Given the description of an element on the screen output the (x, y) to click on. 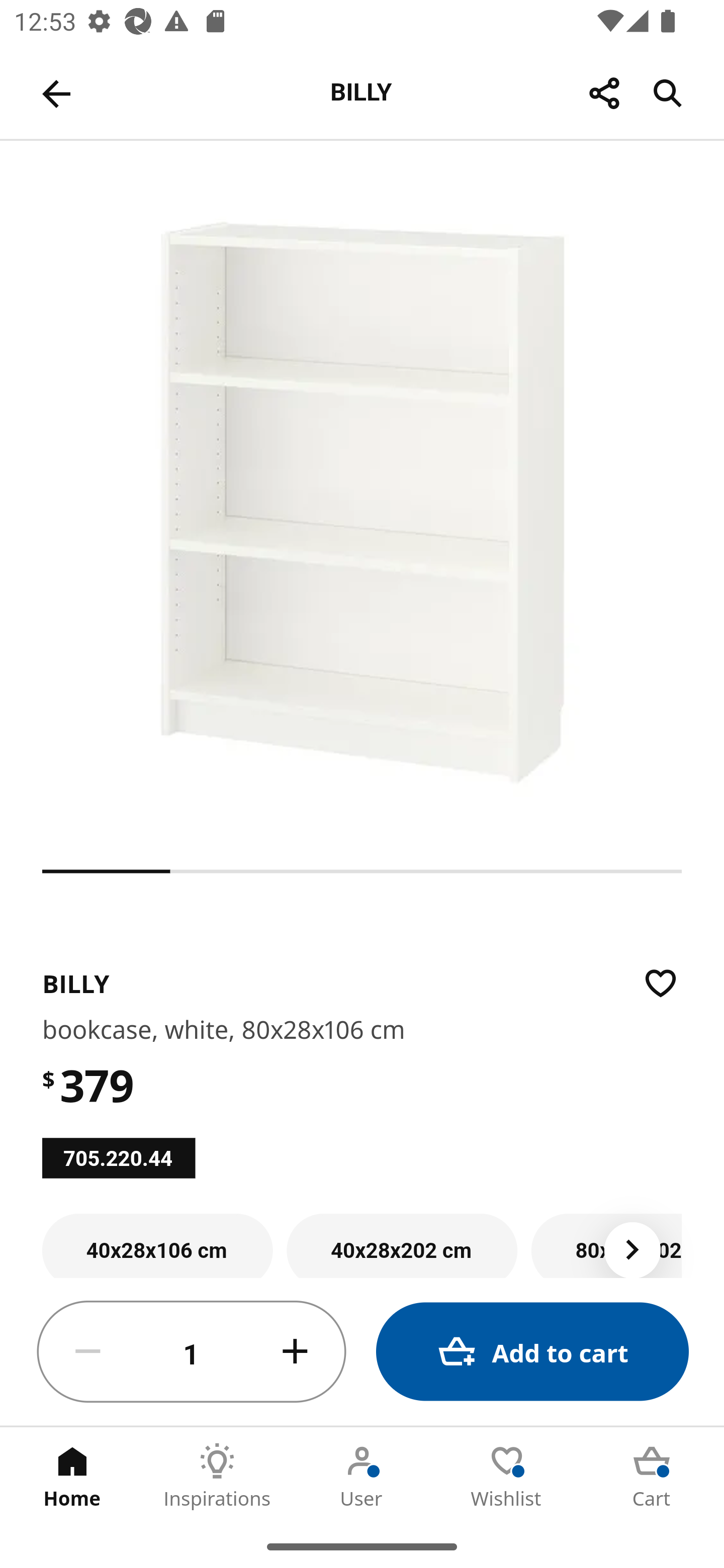
40x28x106 cm (156, 1245)
40x28x202 cm (402, 1245)
80x28x202 cm (606, 1245)
Add to cart (531, 1352)
1 (191, 1352)
Home
Tab 1 of 5 (72, 1476)
Inspirations
Tab 2 of 5 (216, 1476)
User
Tab 3 of 5 (361, 1476)
Wishlist
Tab 4 of 5 (506, 1476)
Cart
Tab 5 of 5 (651, 1476)
